Given the description of an element on the screen output the (x, y) to click on. 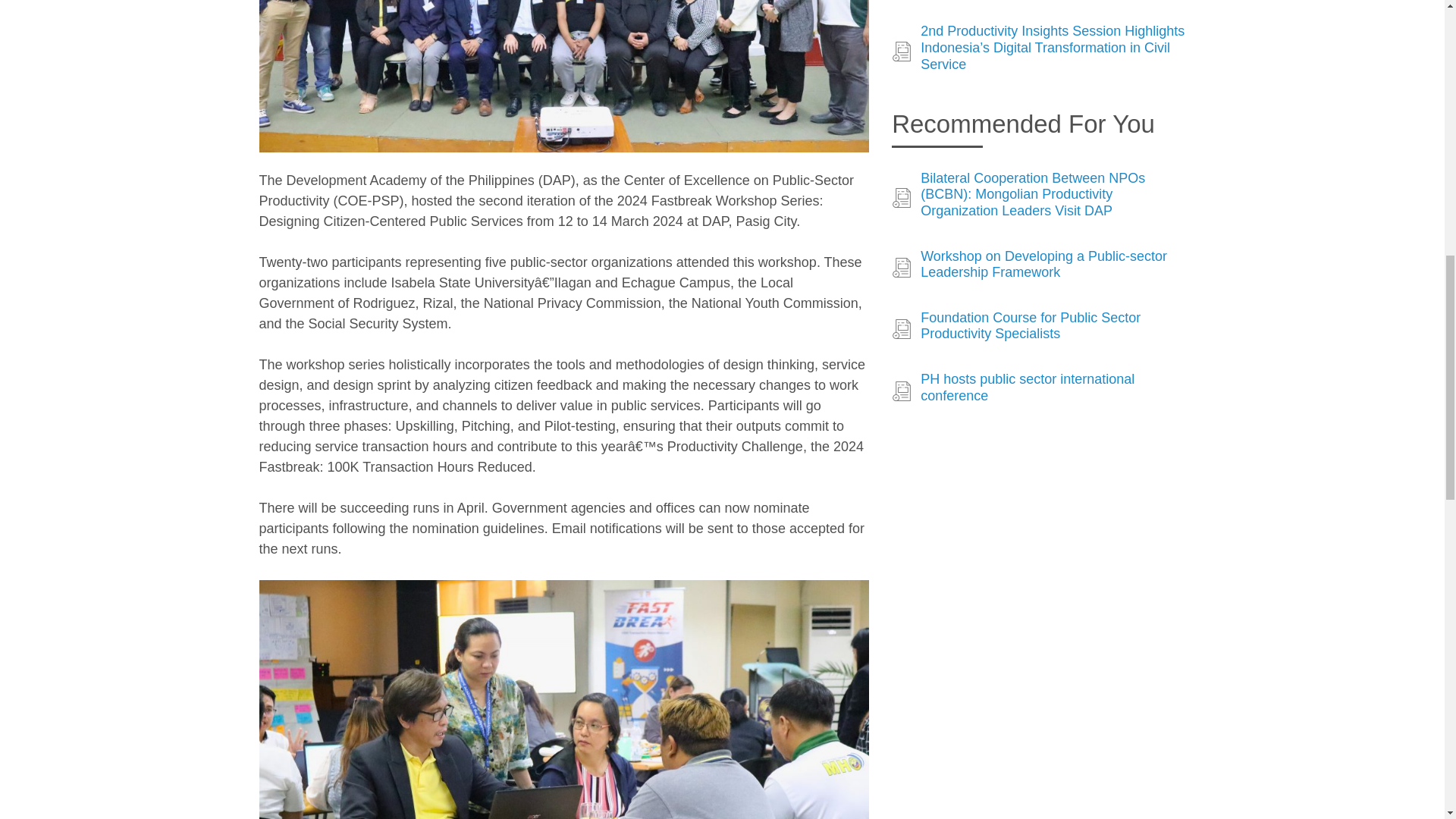
PH hosts public sector international conference (1052, 387)
Foundation Course for Public Sector Productivity Specialists (1052, 326)
Workshop on Developing a Public-sector Leadership Framework (1052, 264)
Foundation Course for Public Sector Productivity Specialists (1052, 326)
Workshop on Developing a Public-sector Leadership Framework (1052, 264)
PH hosts public sector international conference (1052, 387)
